Given the description of an element on the screen output the (x, y) to click on. 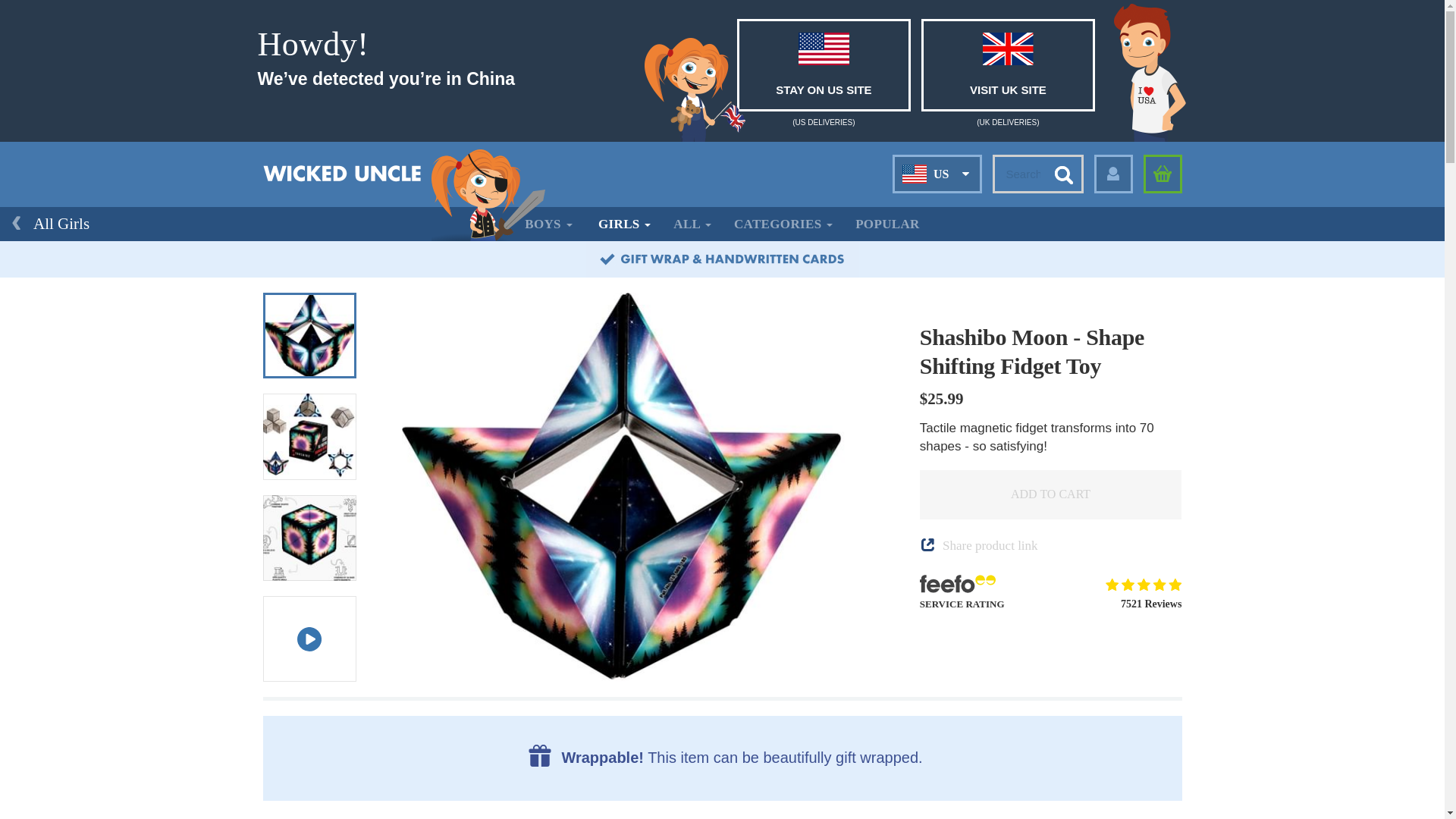
GIRLS (624, 223)
UK (936, 207)
BOYS (548, 223)
